Given the description of an element on the screen output the (x, y) to click on. 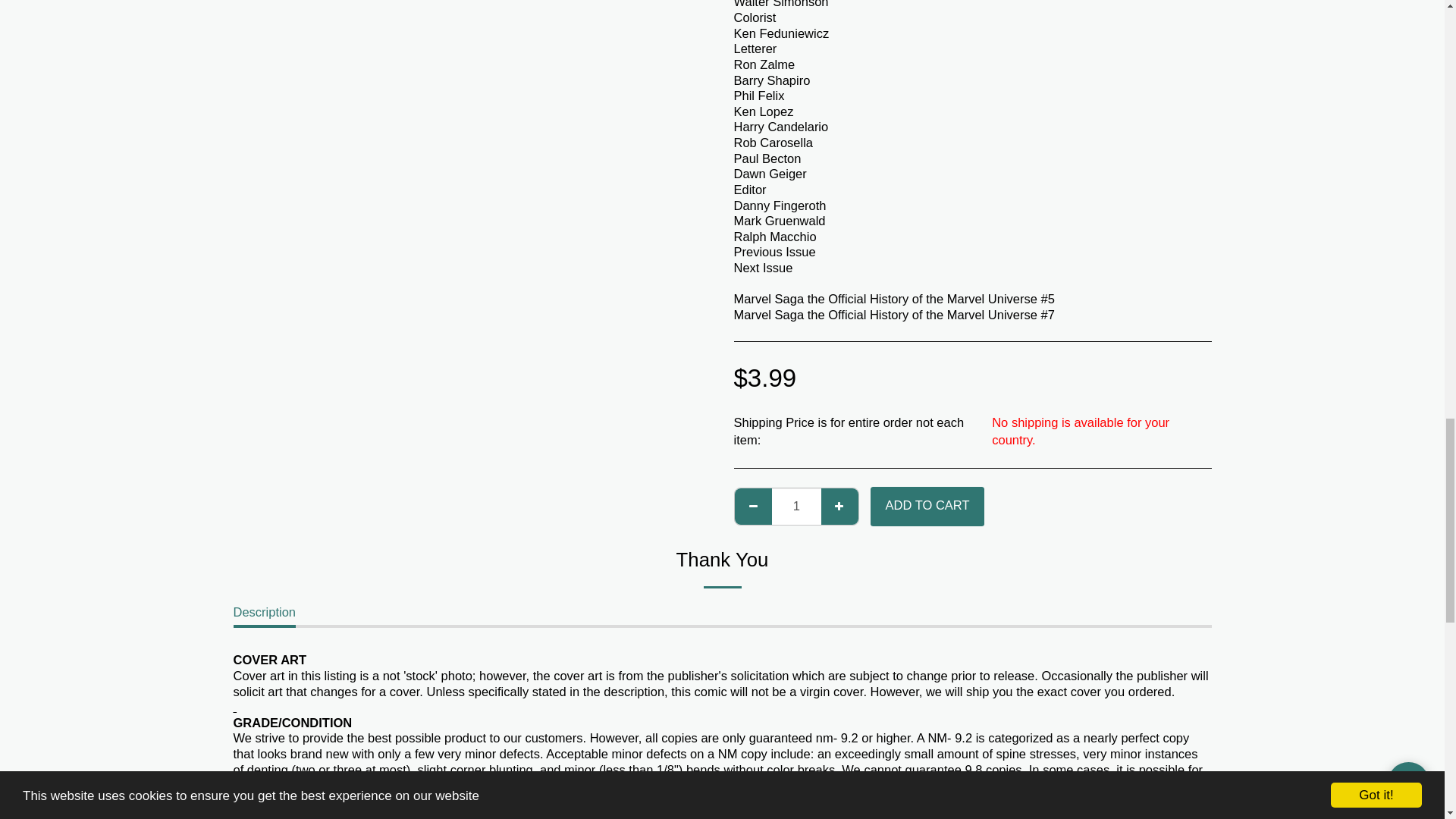
Description (264, 615)
ADD TO CART (927, 506)
1 (796, 506)
